Given the description of an element on the screen output the (x, y) to click on. 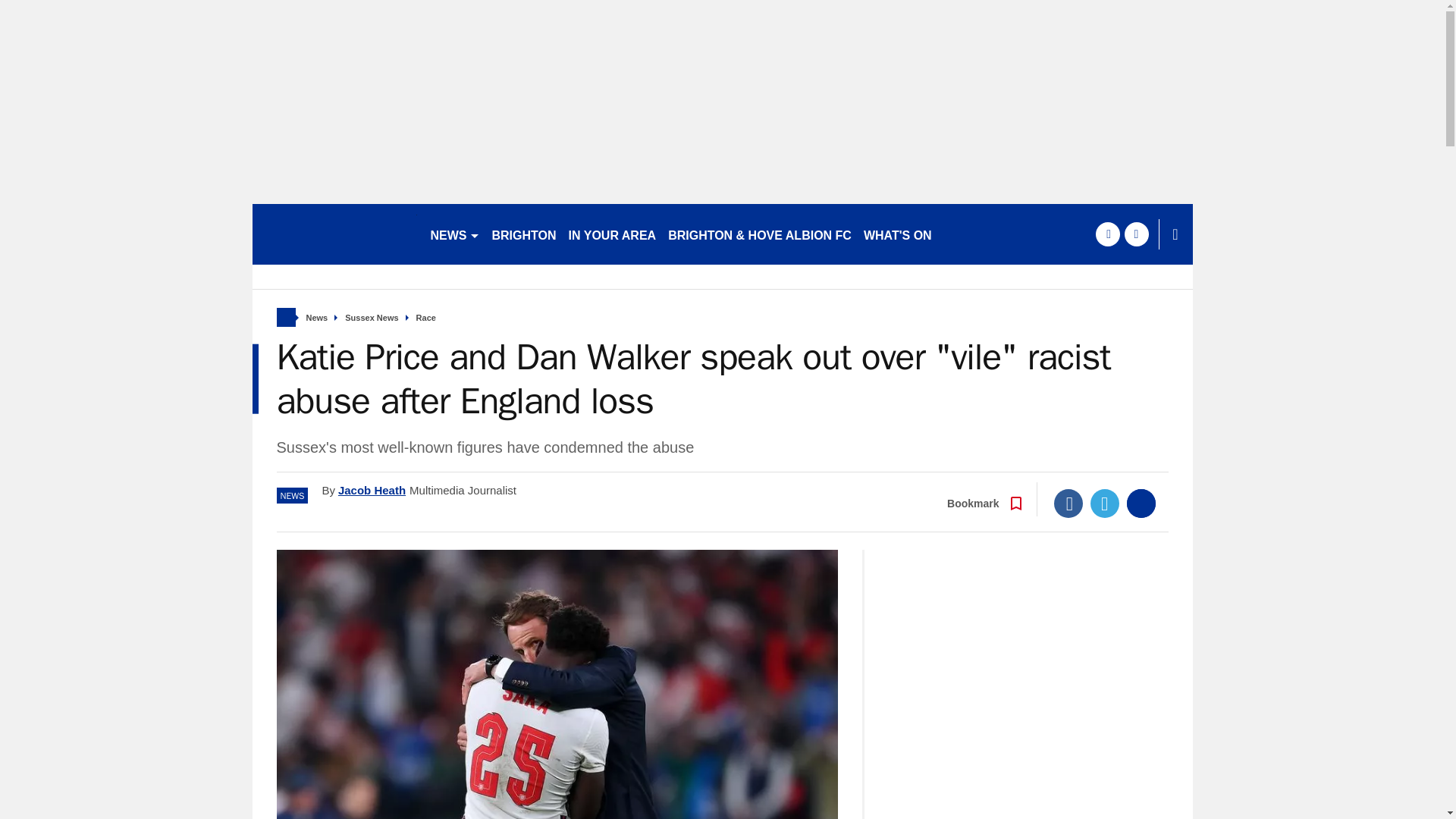
Facebook (1068, 502)
NEWS (455, 233)
IN YOUR AREA (612, 233)
twitter (1136, 233)
sussexlive (333, 233)
Twitter (1104, 502)
facebook (1106, 233)
BRIGHTON (523, 233)
WHAT'S ON (897, 233)
